Given the description of an element on the screen output the (x, y) to click on. 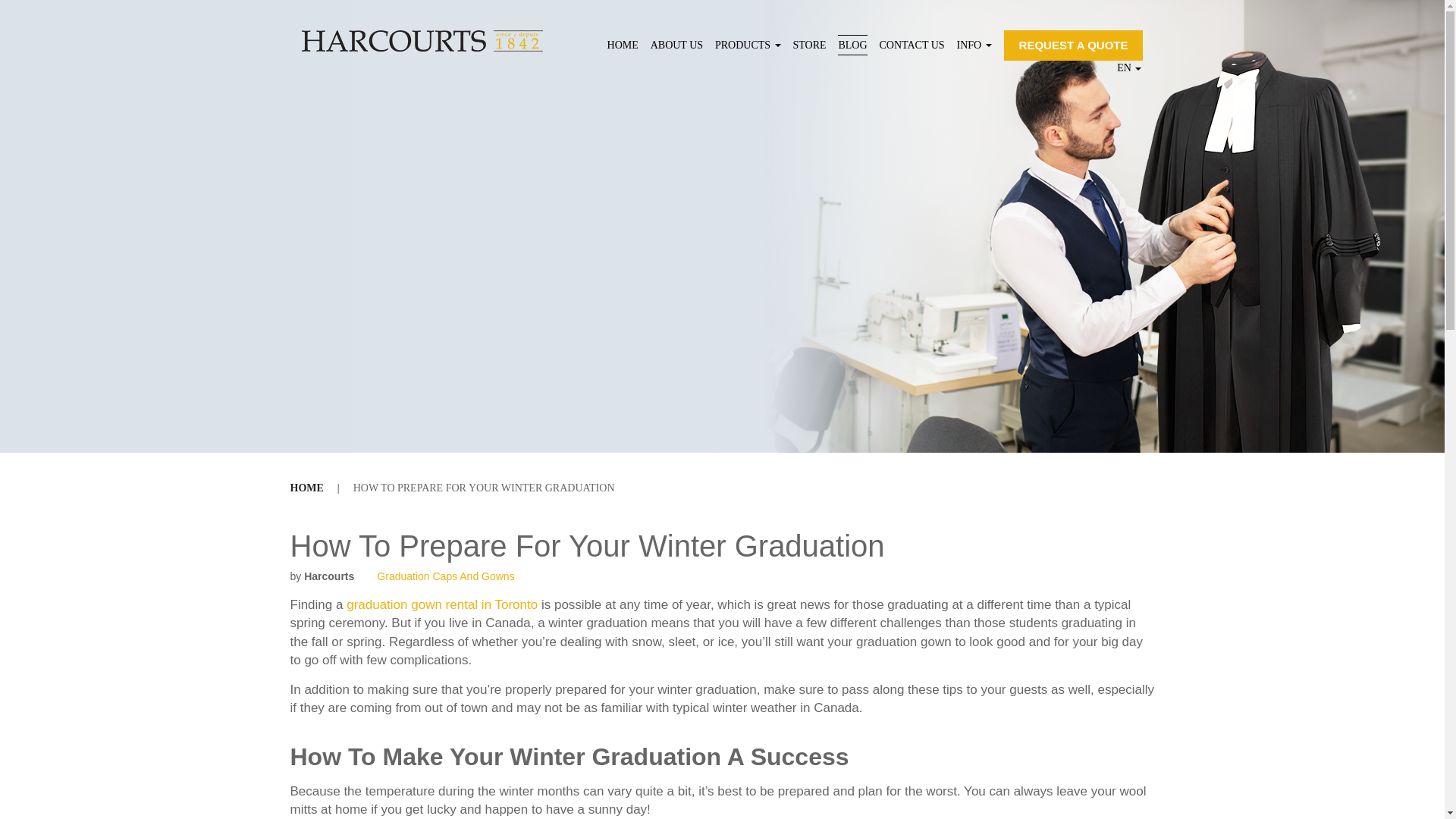
ABOUT US (676, 45)
REQUEST A QUOTE (1073, 45)
BLOG (852, 45)
graduation gown rental in Toronto (441, 604)
Home (306, 487)
EN (1128, 67)
Graduation Caps And Gowns (445, 576)
Harcourts (328, 576)
CONTACT US (911, 45)
HOME (306, 487)
STORE (808, 45)
INFO (973, 45)
HOME (623, 45)
PRODUCTS (747, 45)
